Given the description of an element on the screen output the (x, y) to click on. 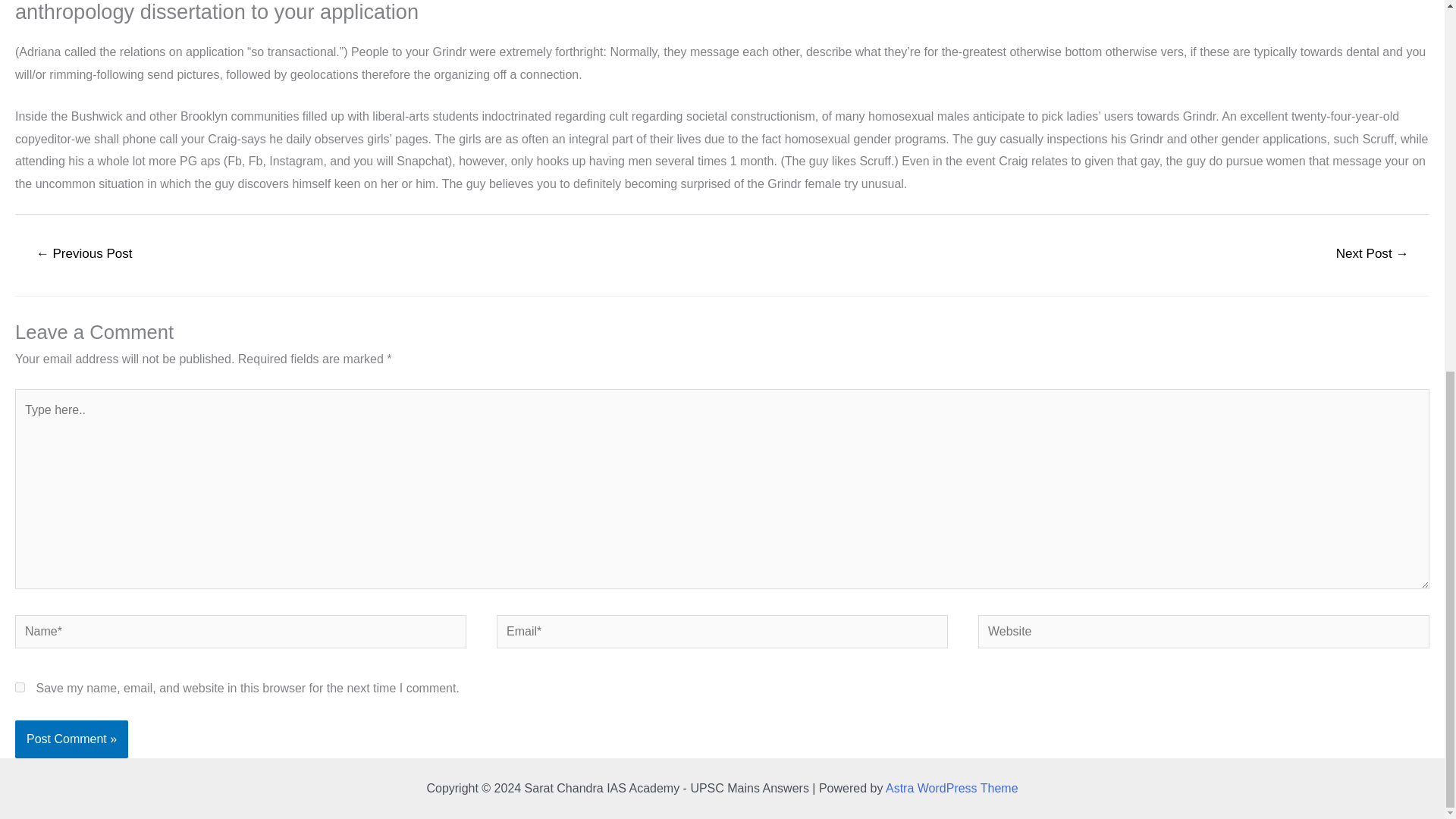
Astra WordPress Theme (951, 788)
yes (19, 687)
